Given the description of an element on the screen output the (x, y) to click on. 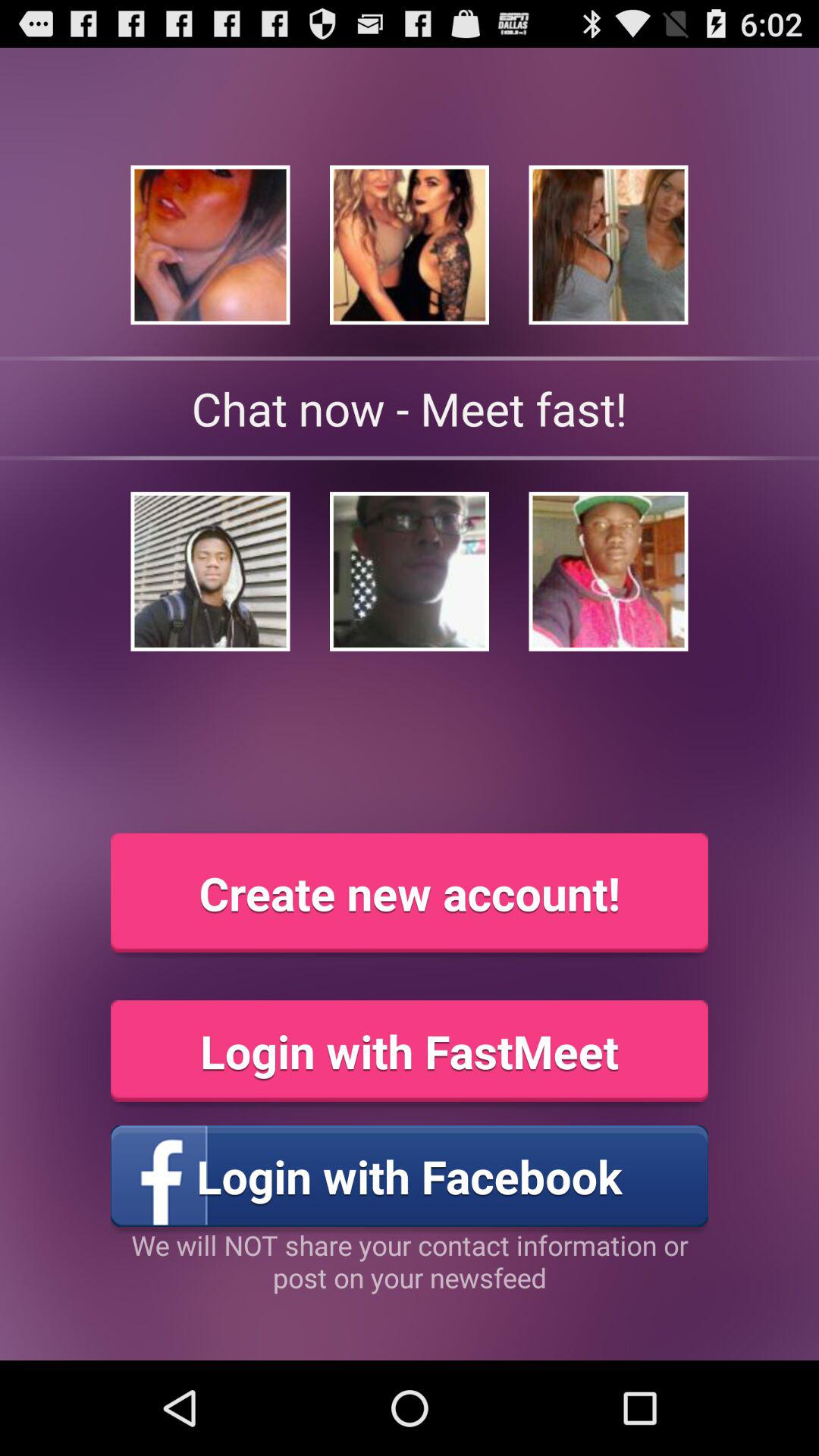
turn off the item above the login with fastmeet icon (409, 892)
